Given the description of an element on the screen output the (x, y) to click on. 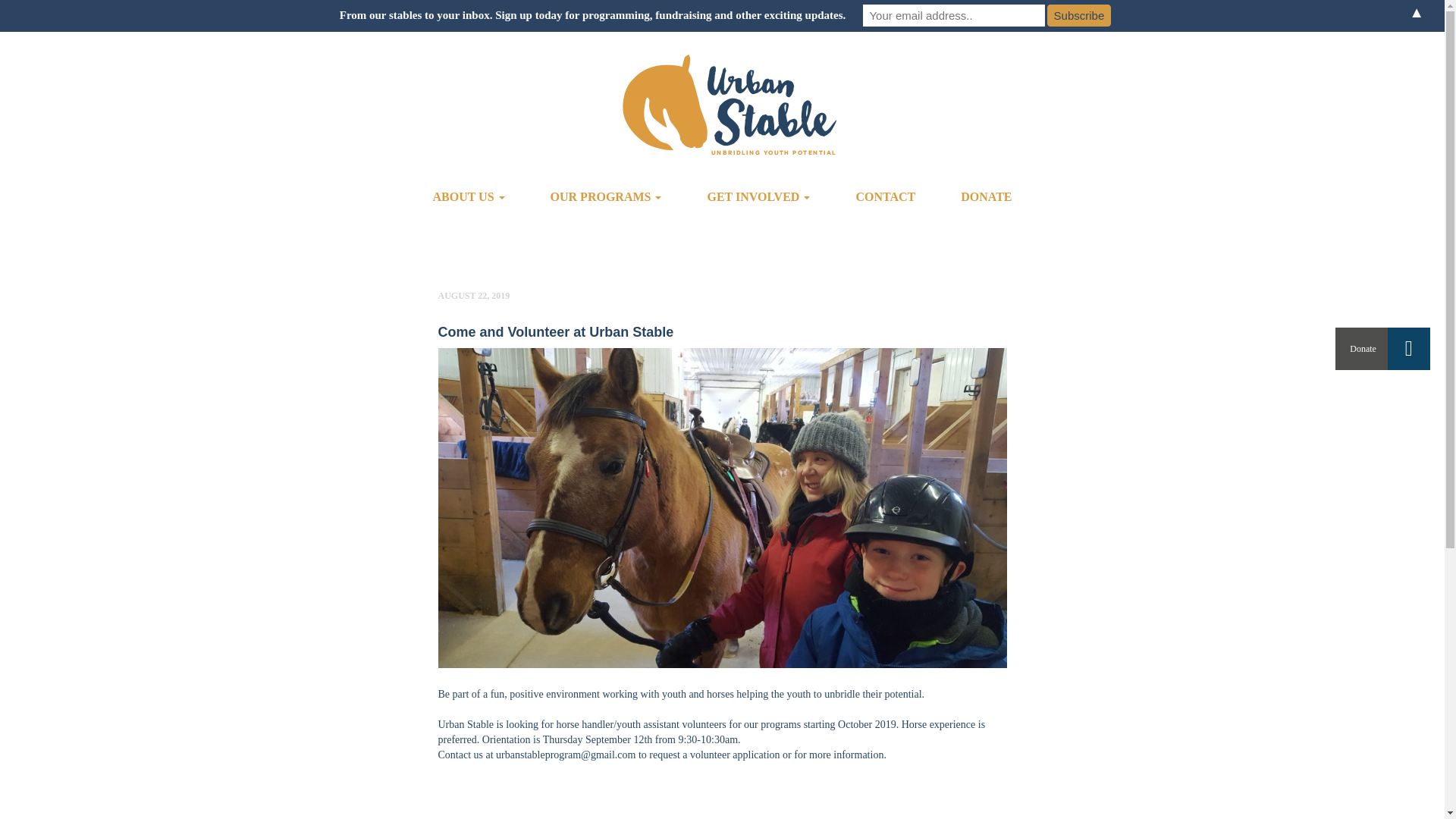
Subscribe (1078, 15)
GET INVOLVED (758, 197)
DONATE (986, 197)
OUR PROGRAMS (605, 197)
Subscribe (1078, 15)
CONTACT (885, 197)
ABOUT US (469, 197)
